Given the description of an element on the screen output the (x, y) to click on. 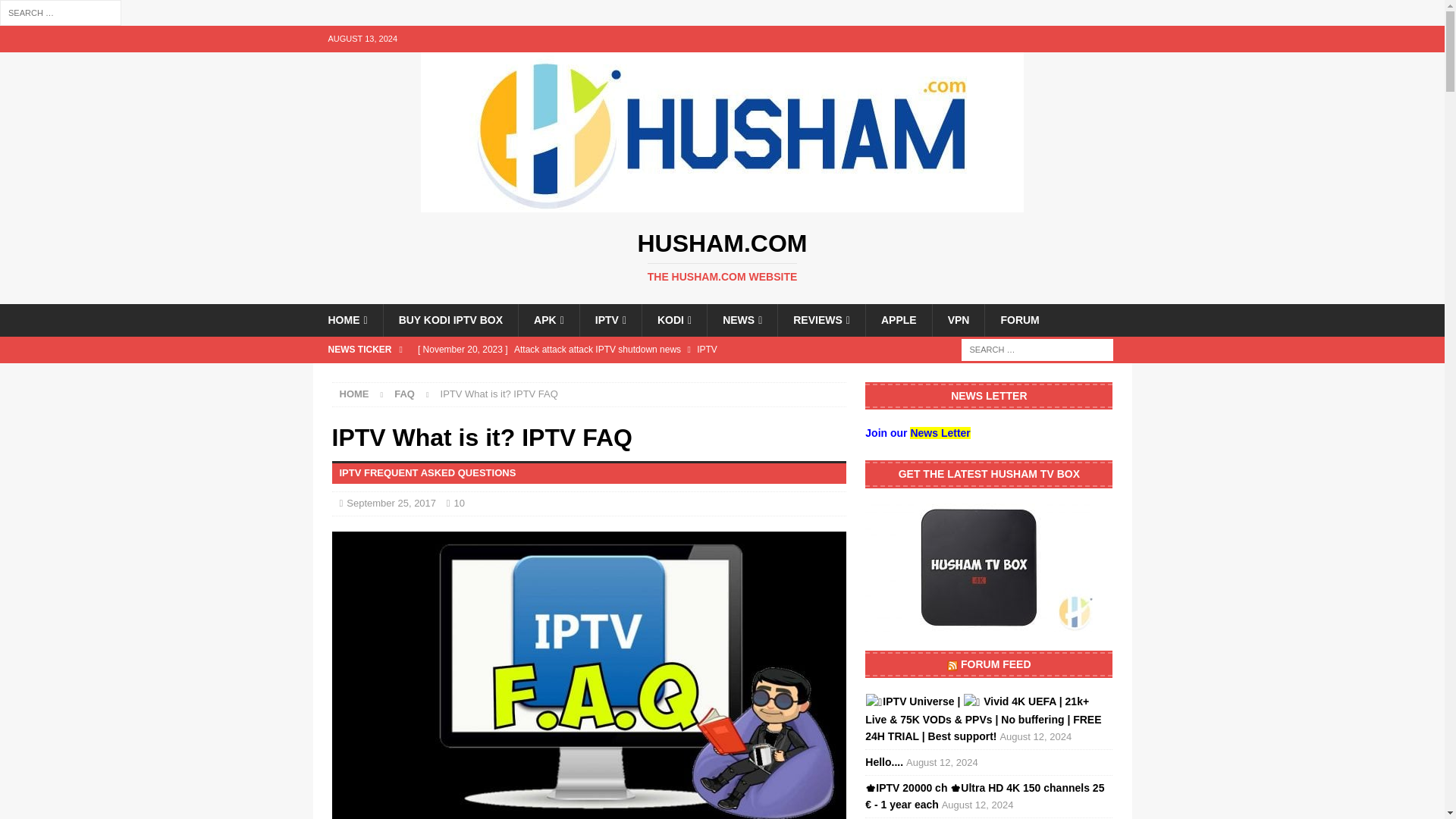
Husham.com (721, 256)
Husham.com (721, 256)
Attack attack attack IPTV shutdown news (721, 203)
Search (627, 349)
